Given the description of an element on the screen output the (x, y) to click on. 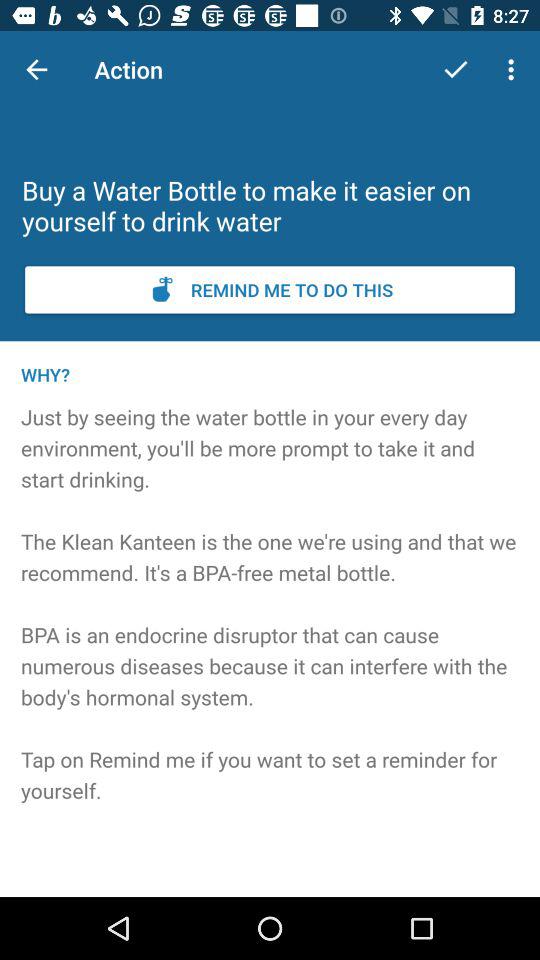
set a reminder (269, 289)
